Given the description of an element on the screen output the (x, y) to click on. 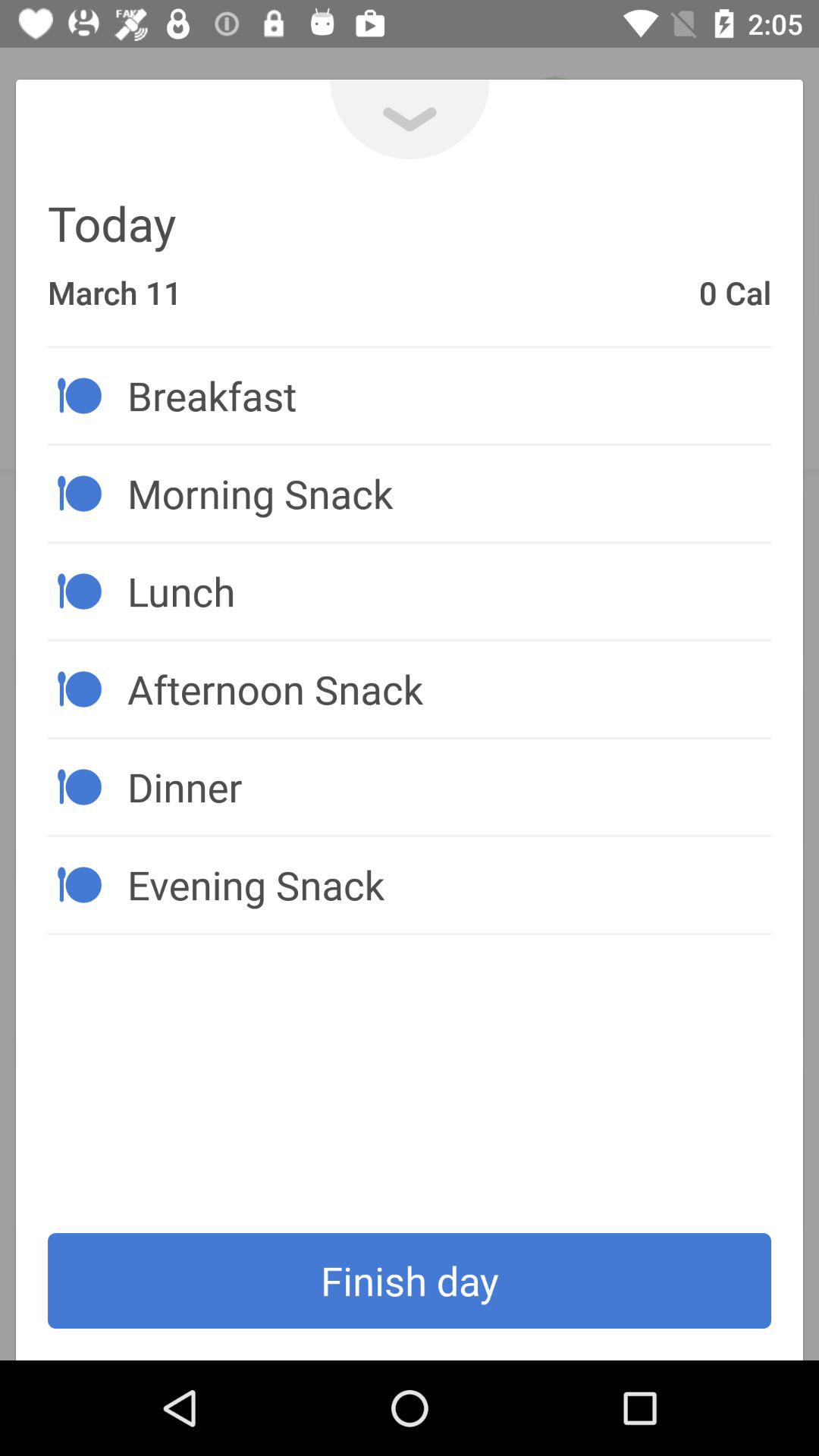
tap afternoon snack item (449, 688)
